Given the description of an element on the screen output the (x, y) to click on. 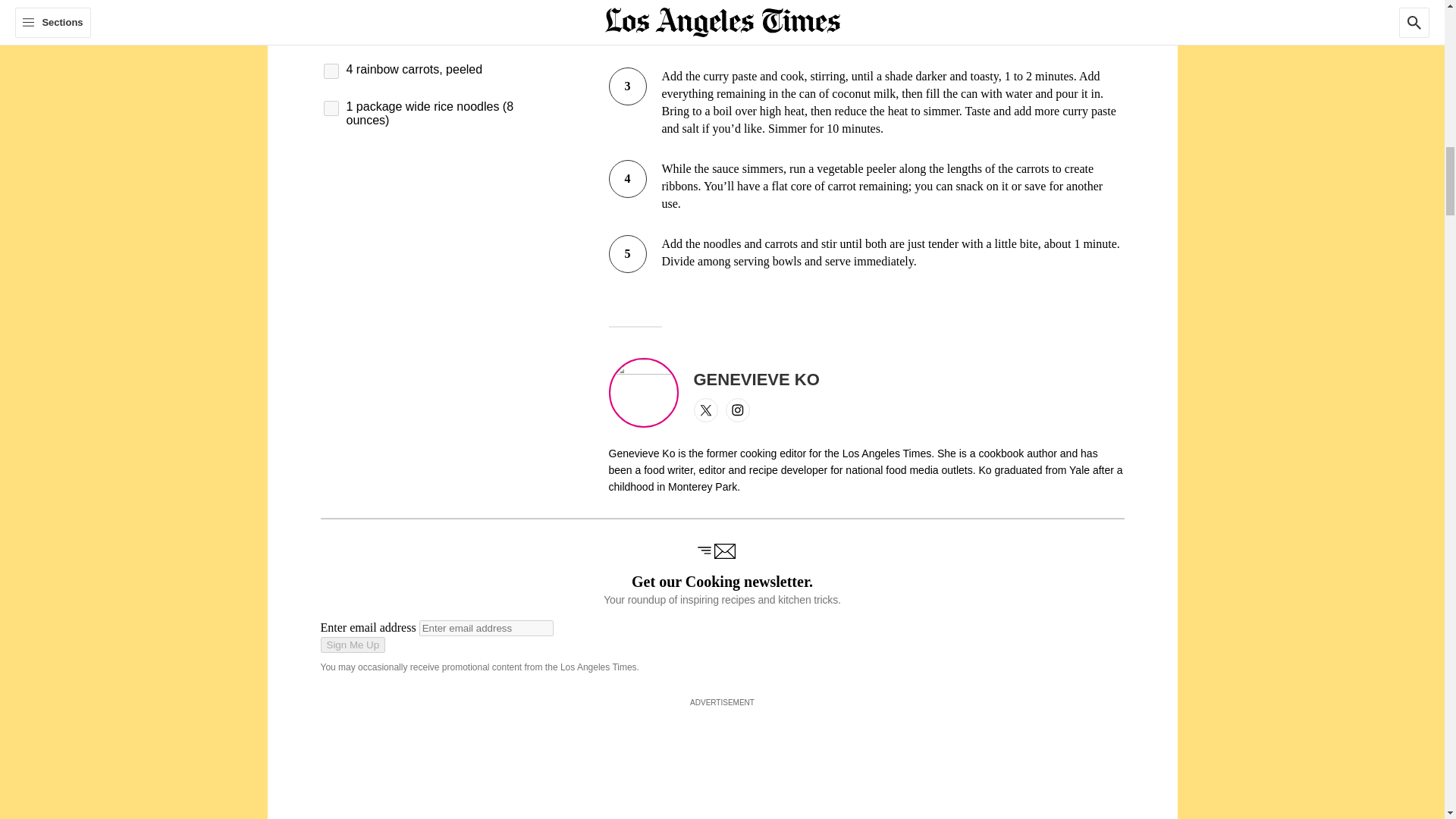
on (330, 70)
on (330, 108)
on (330, 24)
